Given the description of an element on the screen output the (x, y) to click on. 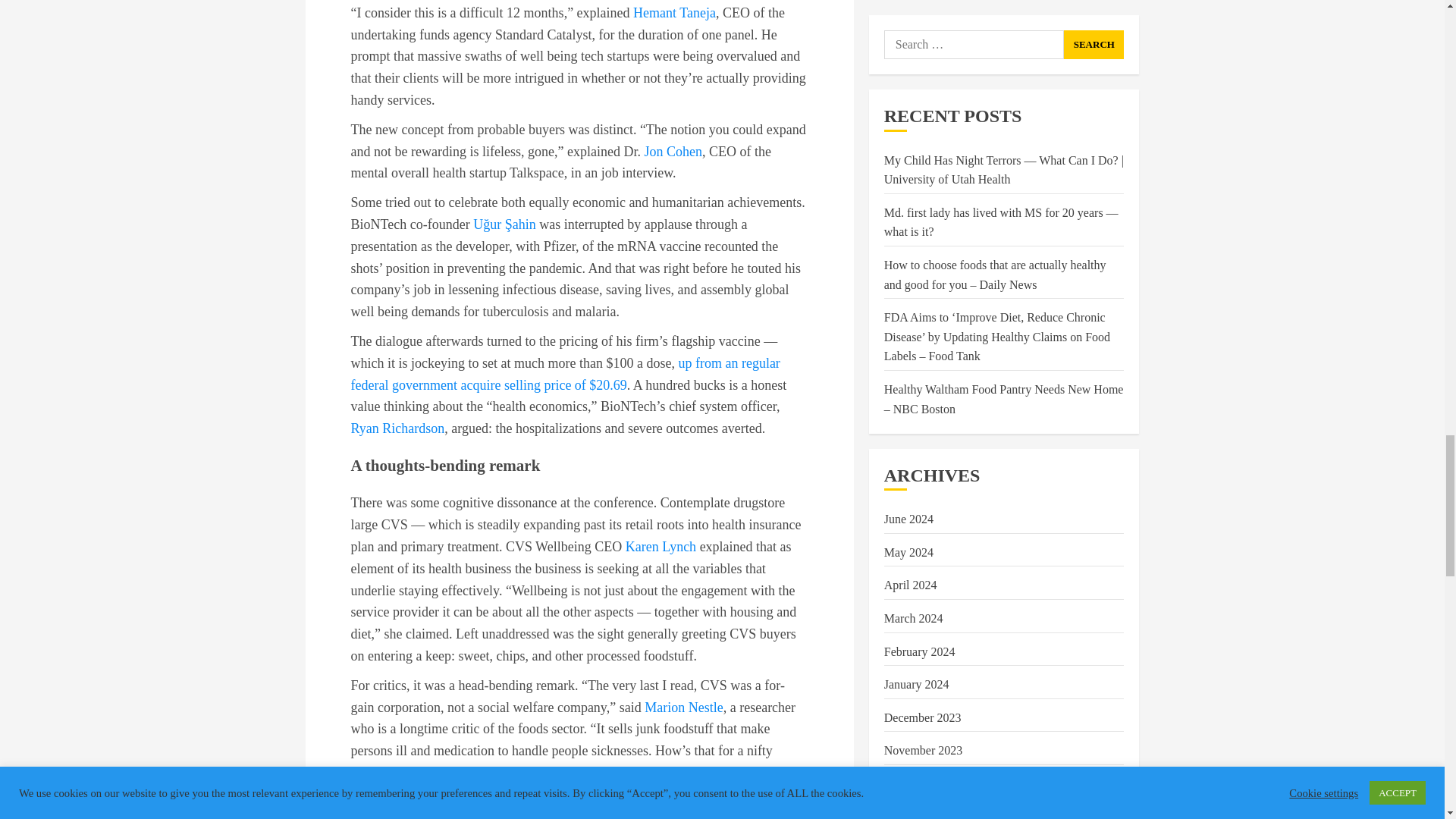
Ryan Richardson (397, 427)
Hemant Taneja (674, 12)
Jon Cohen (672, 151)
CVS spokesperson Ethan Slavin (438, 801)
Marion Nestle (683, 707)
Karen Lynch (660, 546)
